Given the description of an element on the screen output the (x, y) to click on. 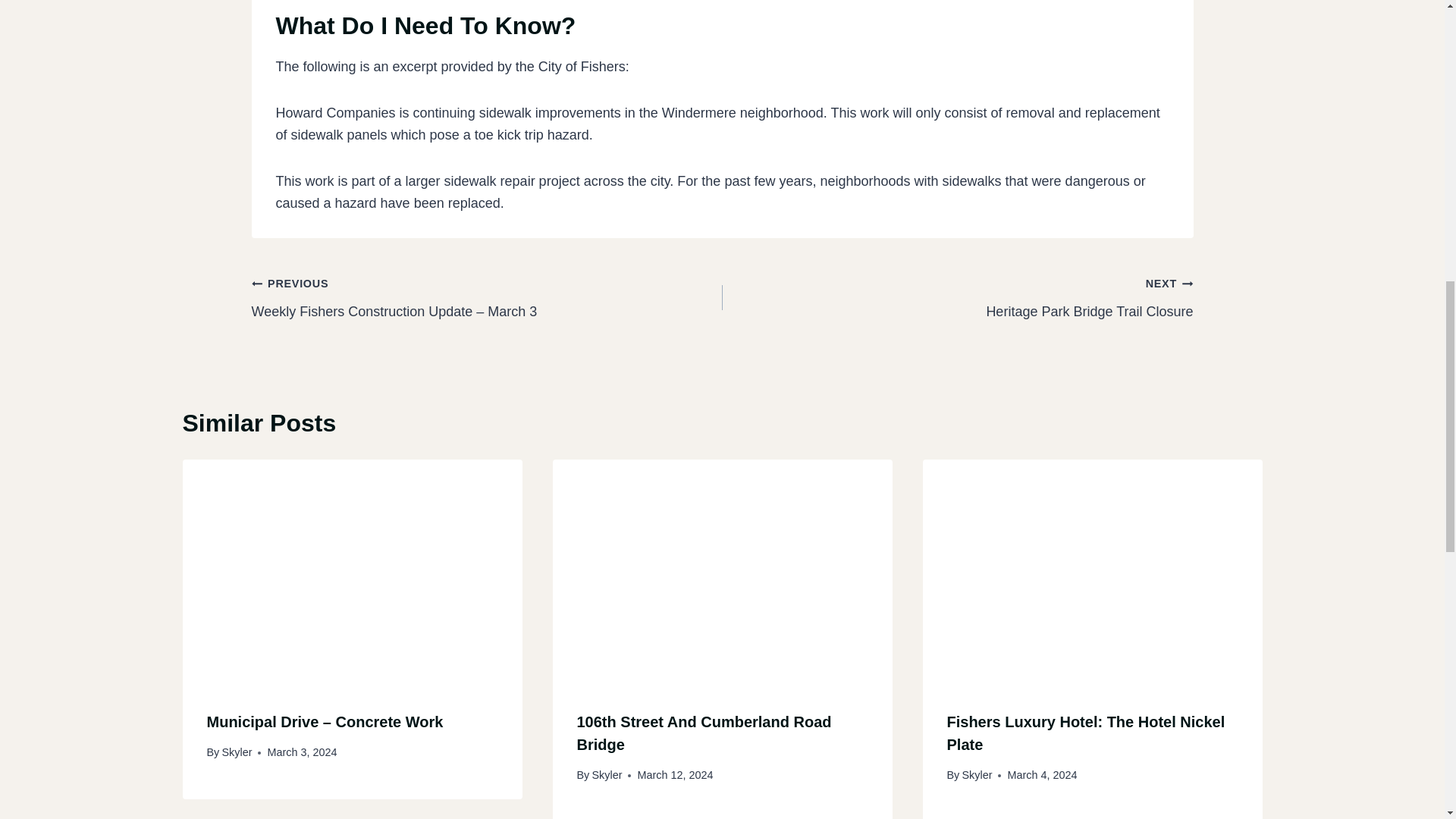
Fishers Luxury Hotel: The Hotel Nickel Plate (1085, 732)
106th Street And Cumberland Road Bridge (703, 732)
Skyler (606, 775)
Skyler (236, 752)
Skyler (975, 775)
